Given the description of an element on the screen output the (x, y) to click on. 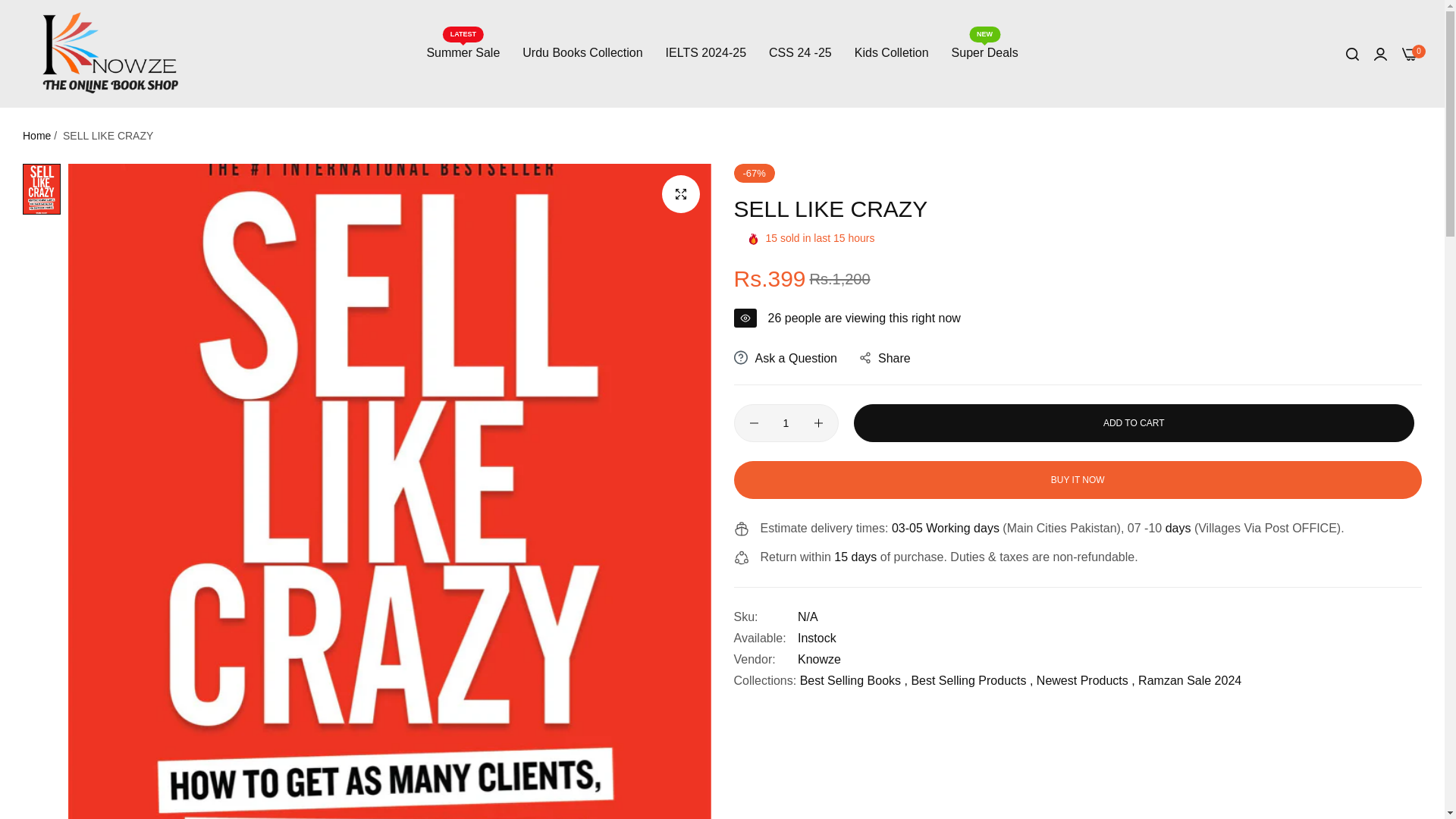
ADD TO CART (1134, 423)
Best Selling Books , (853, 680)
Ask a Question (785, 358)
0 (1410, 51)
knowze  (819, 658)
Urdu Books Collection (582, 53)
IELTS 2024-25 (705, 53)
Knowze (819, 658)
Knowze - The Online Book Shop (111, 53)
1 (786, 422)
